Given the description of an element on the screen output the (x, y) to click on. 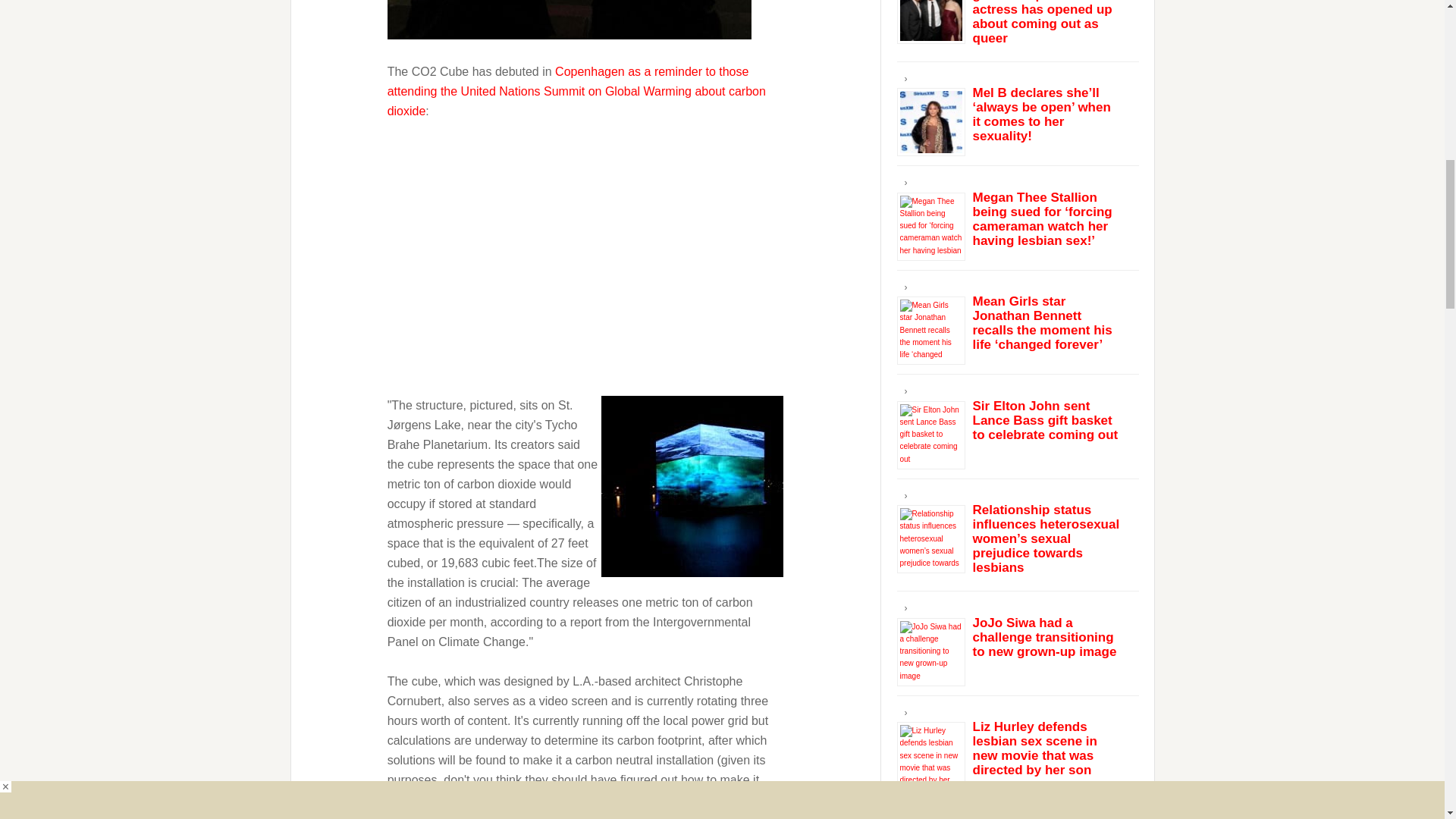
Co2 (569, 19)
Posts tagged with Copenhagen (589, 71)
Cube (692, 486)
Copenhagen (589, 71)
